Given the description of an element on the screen output the (x, y) to click on. 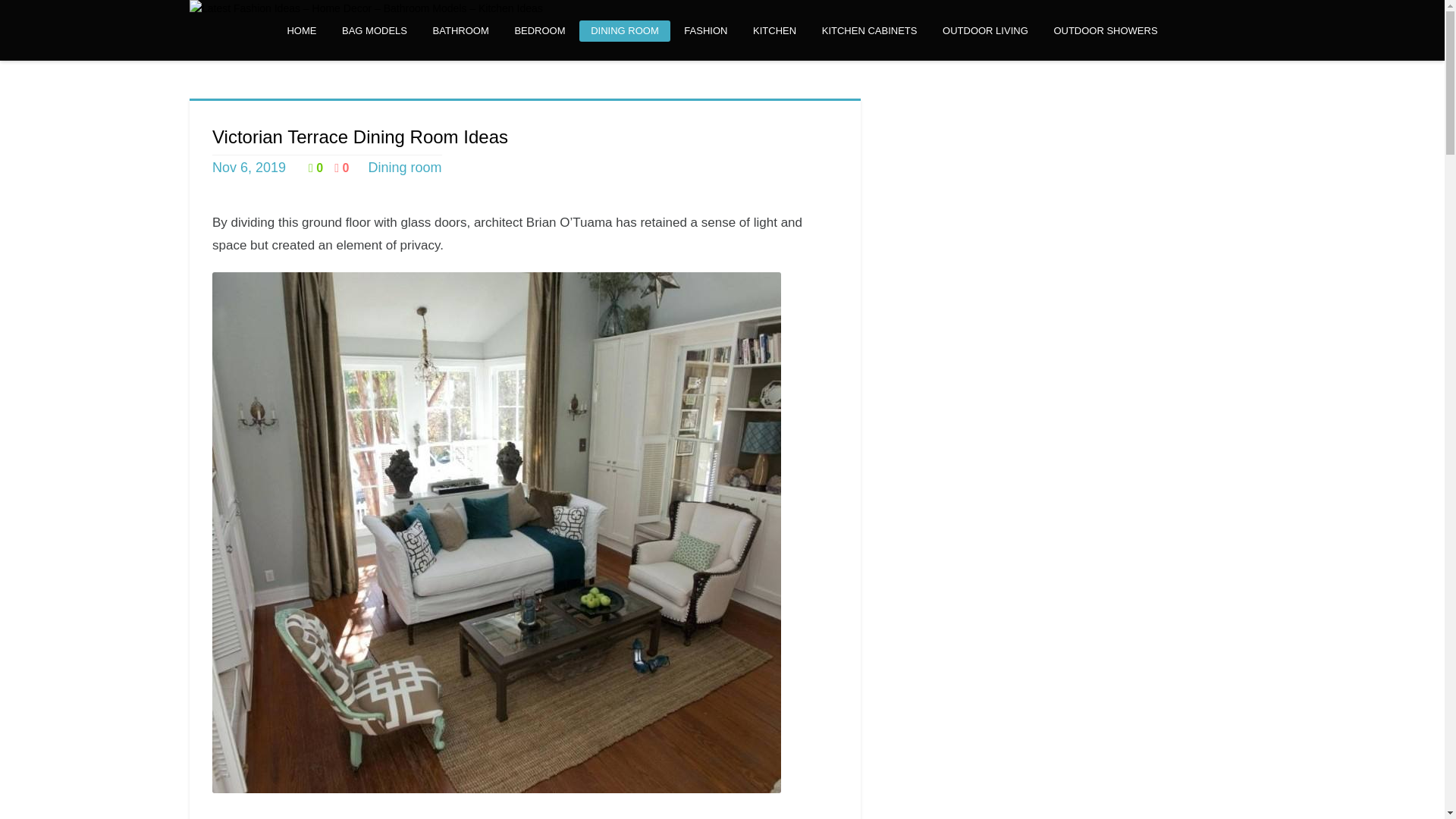
OUTDOOR SHOWERS (1105, 30)
OUTDOOR LIVING (985, 30)
FASHION (705, 30)
DINING ROOM (624, 30)
BEDROOM (539, 30)
KITCHEN (774, 30)
Dining room (404, 167)
HOME (301, 30)
KITCHEN CABINETS (869, 30)
BATHROOM (461, 30)
BAG MODELS (374, 30)
